Given the description of an element on the screen output the (x, y) to click on. 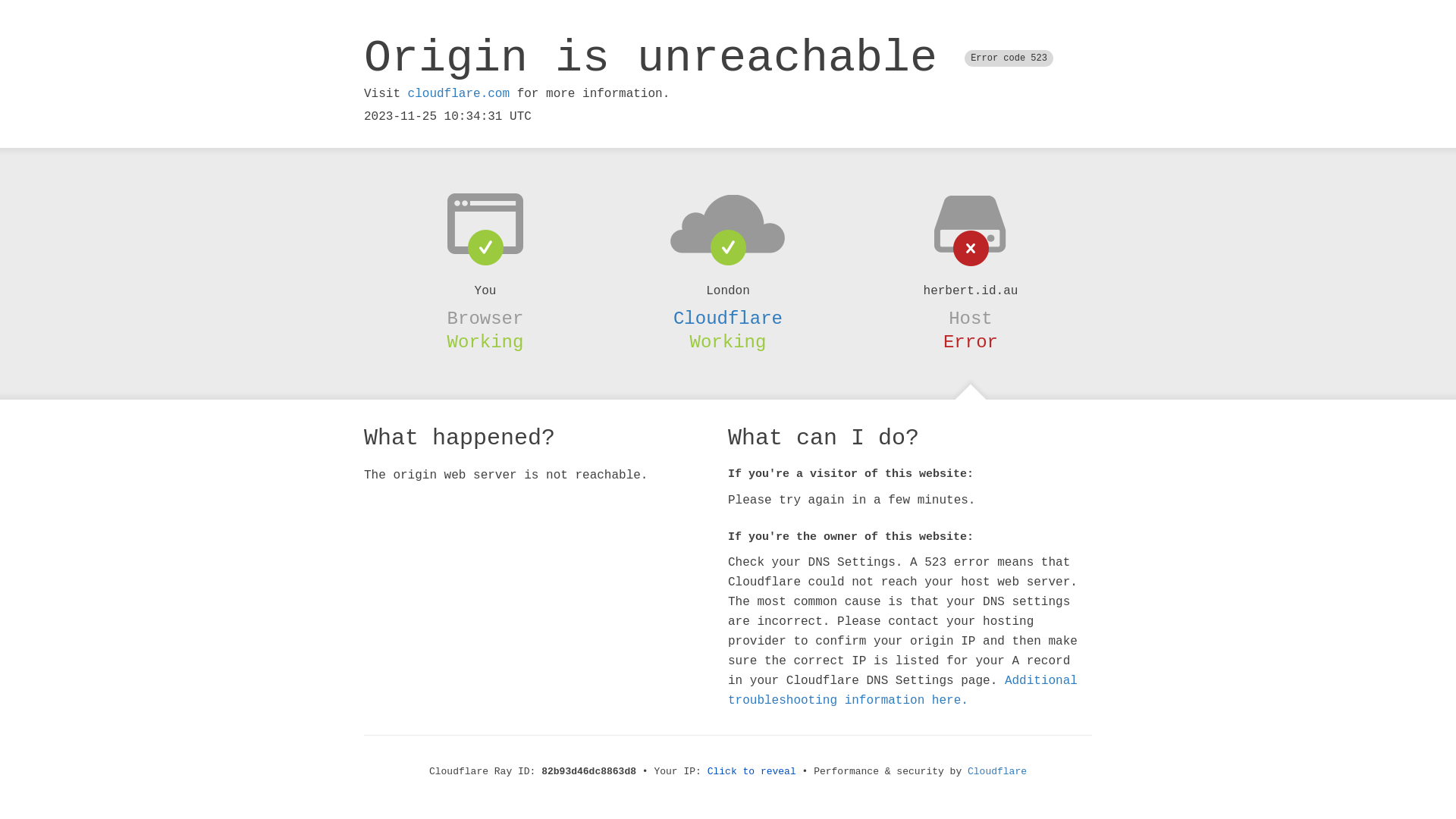
Cloudflare Element type: text (727, 318)
Click to reveal Element type: text (751, 771)
cloudflare.com Element type: text (458, 93)
Cloudflare Element type: text (996, 771)
Additional troubleshooting information here. Element type: text (902, 690)
